Given the description of an element on the screen output the (x, y) to click on. 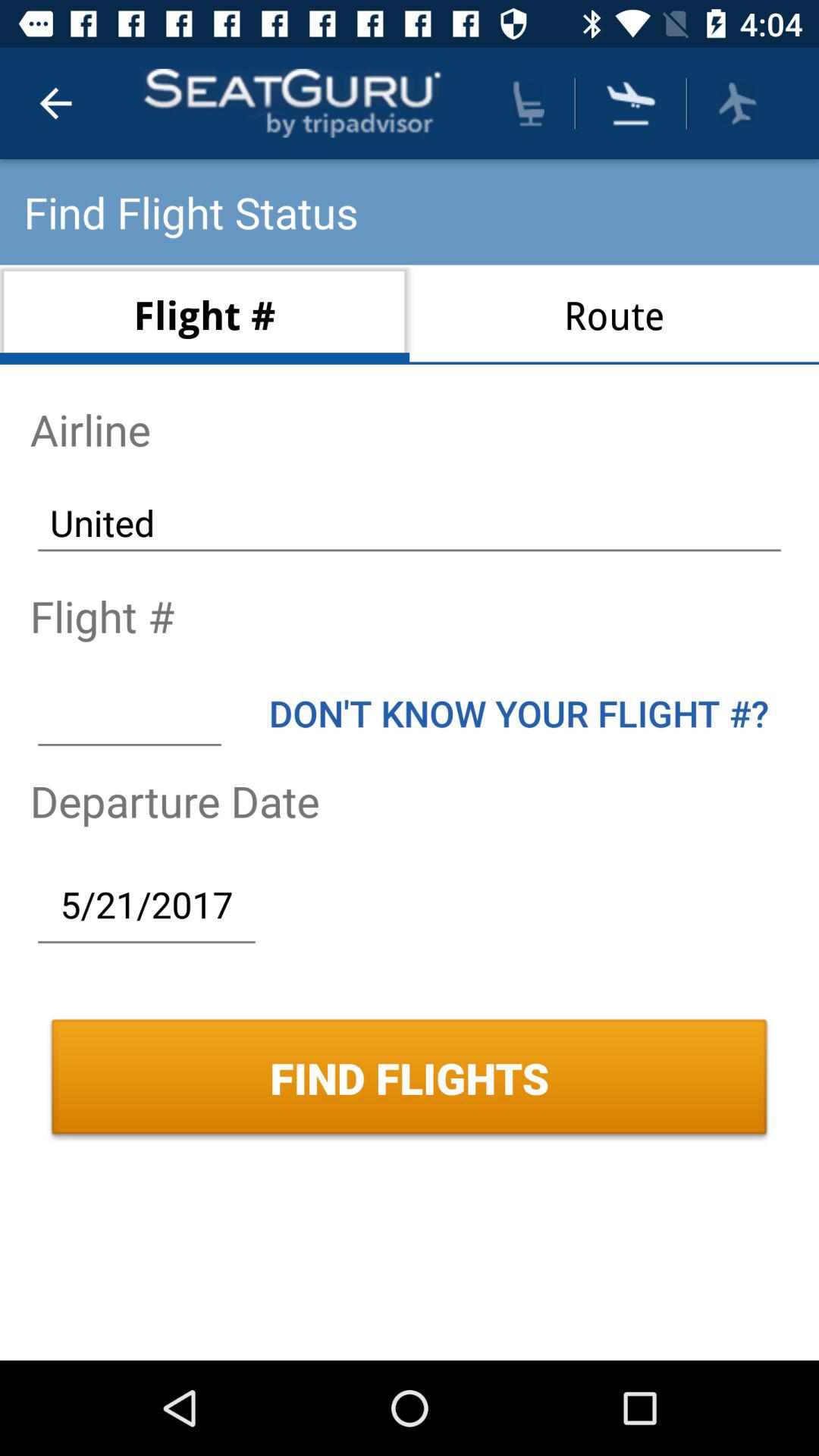
flip to the route item (614, 314)
